Given the description of an element on the screen output the (x, y) to click on. 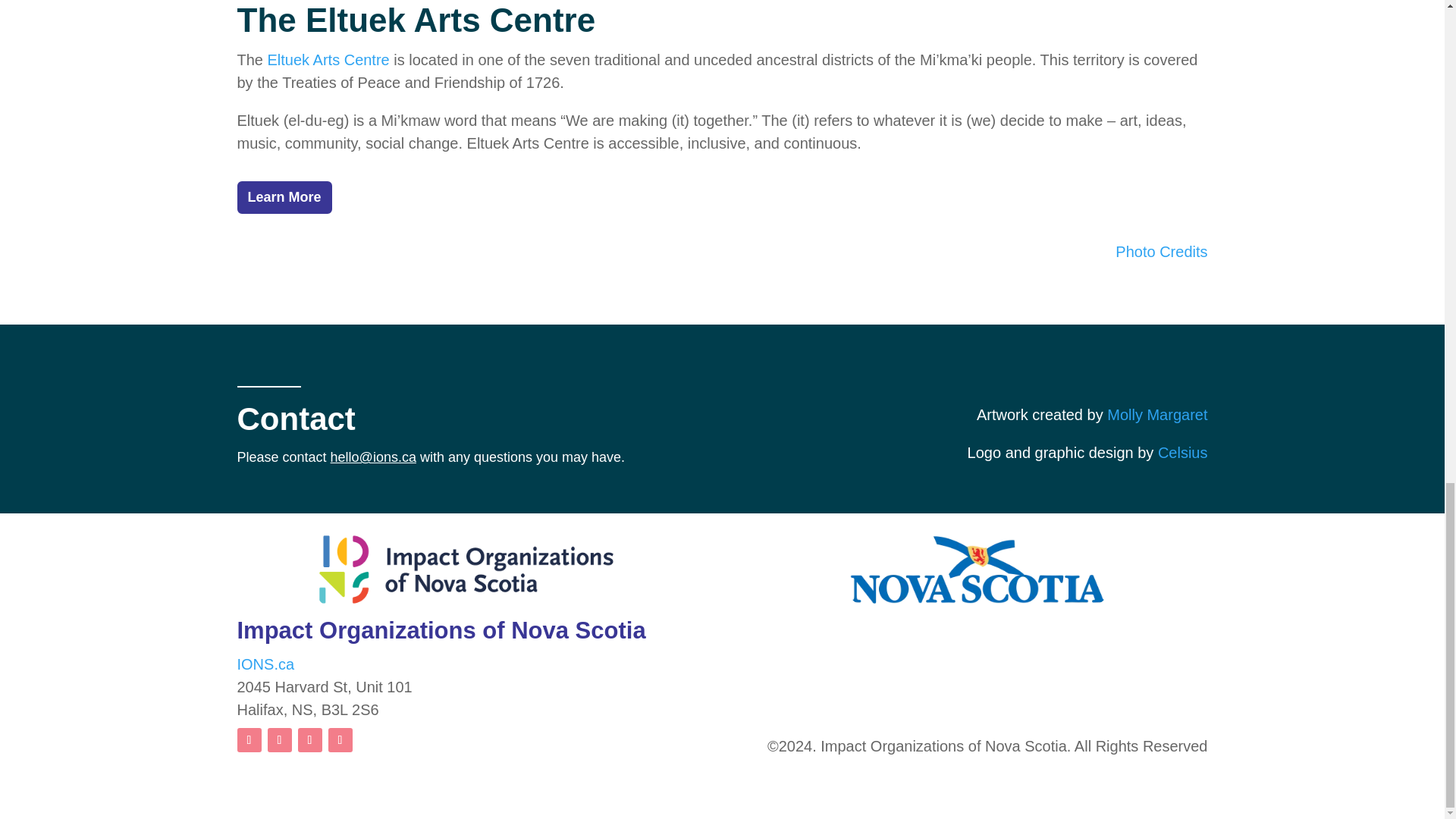
Eltuek Arts Centre (328, 59)
logo-nova-scotia (978, 569)
IONS.ca (264, 664)
Photo Credits (1161, 251)
Follow on Instagram (278, 740)
Follow on Facebook (309, 740)
Follow on  (369, 740)
Celsius (1182, 452)
Follow on LinkedIn (247, 740)
logo-ions-colour (465, 569)
Molly Margaret (1156, 414)
Follow on X (339, 740)
Learn More (283, 196)
